Given the description of an element on the screen output the (x, y) to click on. 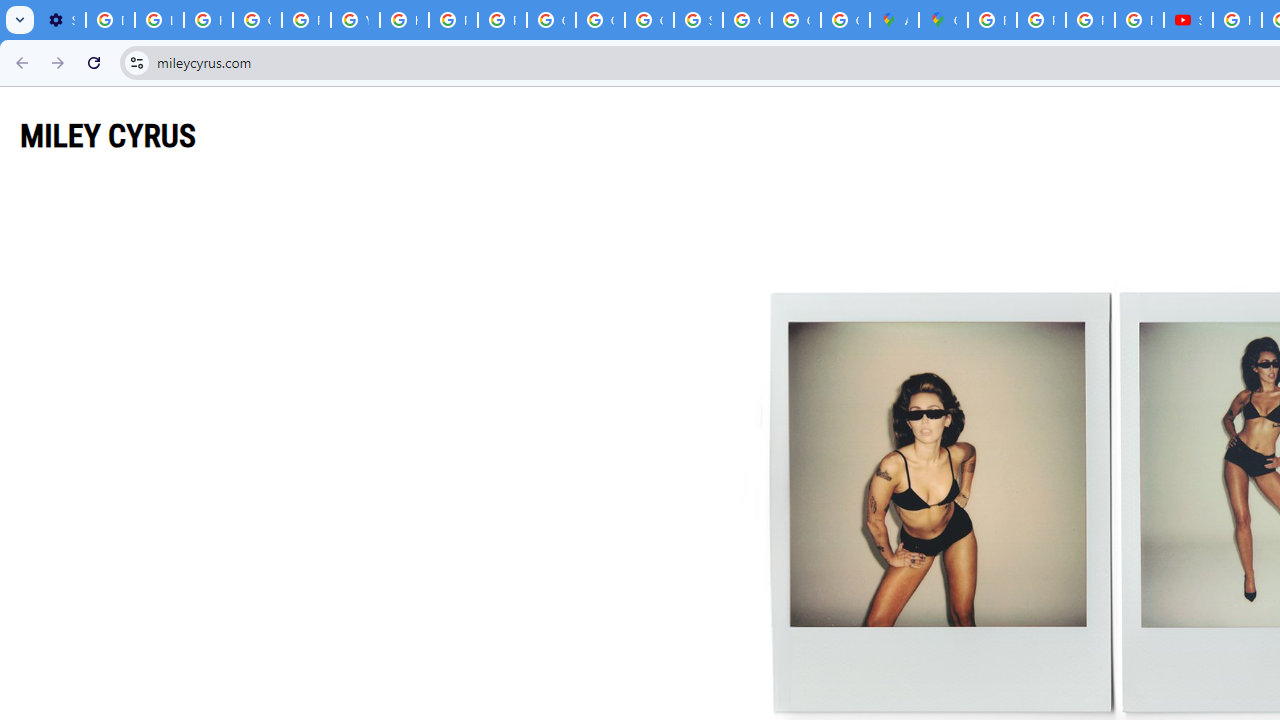
Learn how to find your photos - Google Photos Help (159, 20)
Subscriptions - YouTube (1188, 20)
Delete photos & videos - Computer - Google Photos Help (109, 20)
Privacy Help Center - Policies Help (1041, 20)
Privacy Help Center - Policies Help (452, 20)
YouTube (355, 20)
MILEY CYRUS (107, 135)
